Given the description of an element on the screen output the (x, y) to click on. 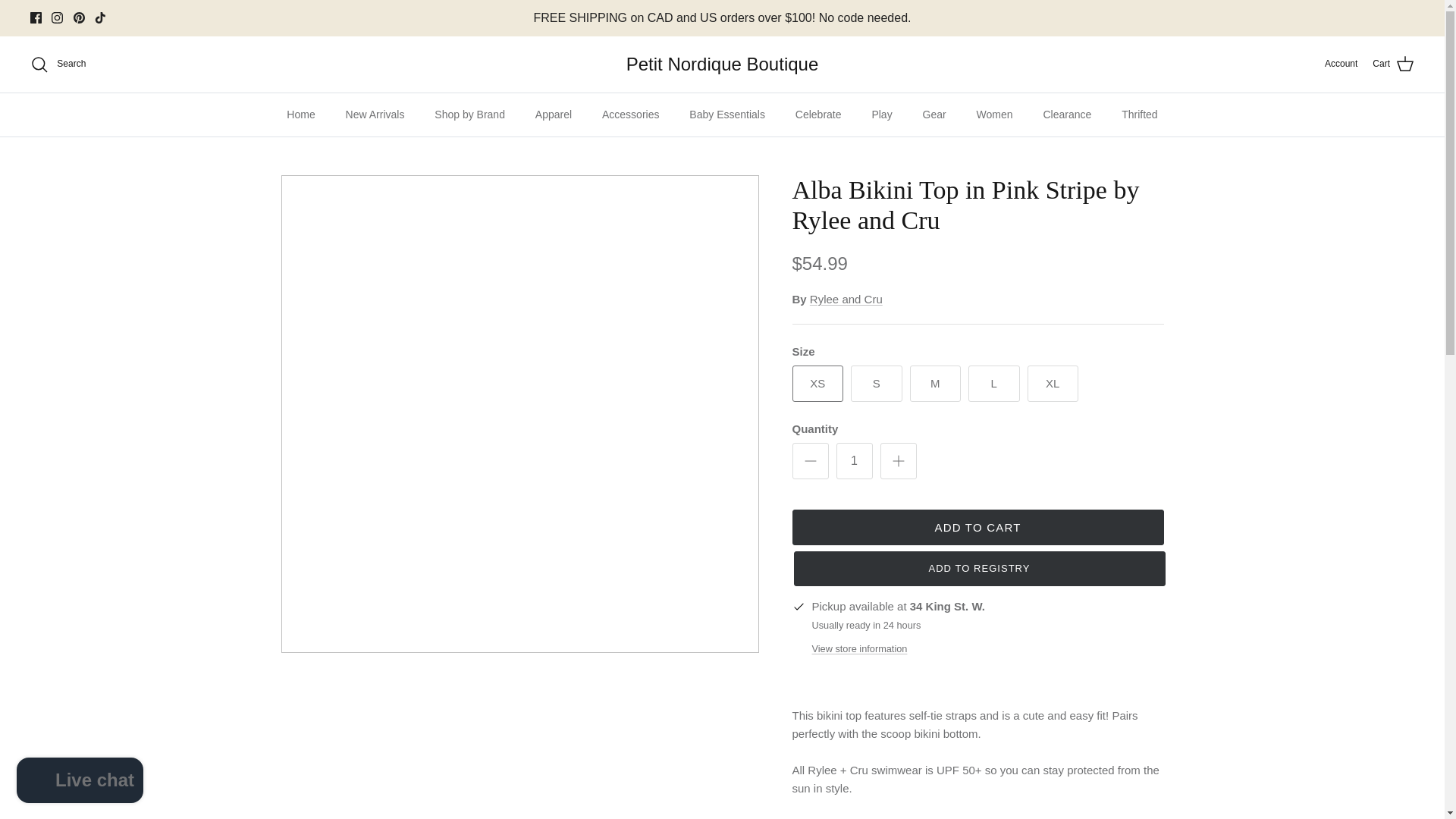
Petit Nordique Boutique (722, 63)
Instagram (56, 17)
Home (301, 114)
Shopify online store chat (79, 781)
Minus (809, 461)
Facebook (36, 17)
Pinterest (79, 17)
Facebook (36, 17)
1 (853, 461)
New Arrivals (375, 114)
